Given the description of an element on the screen output the (x, y) to click on. 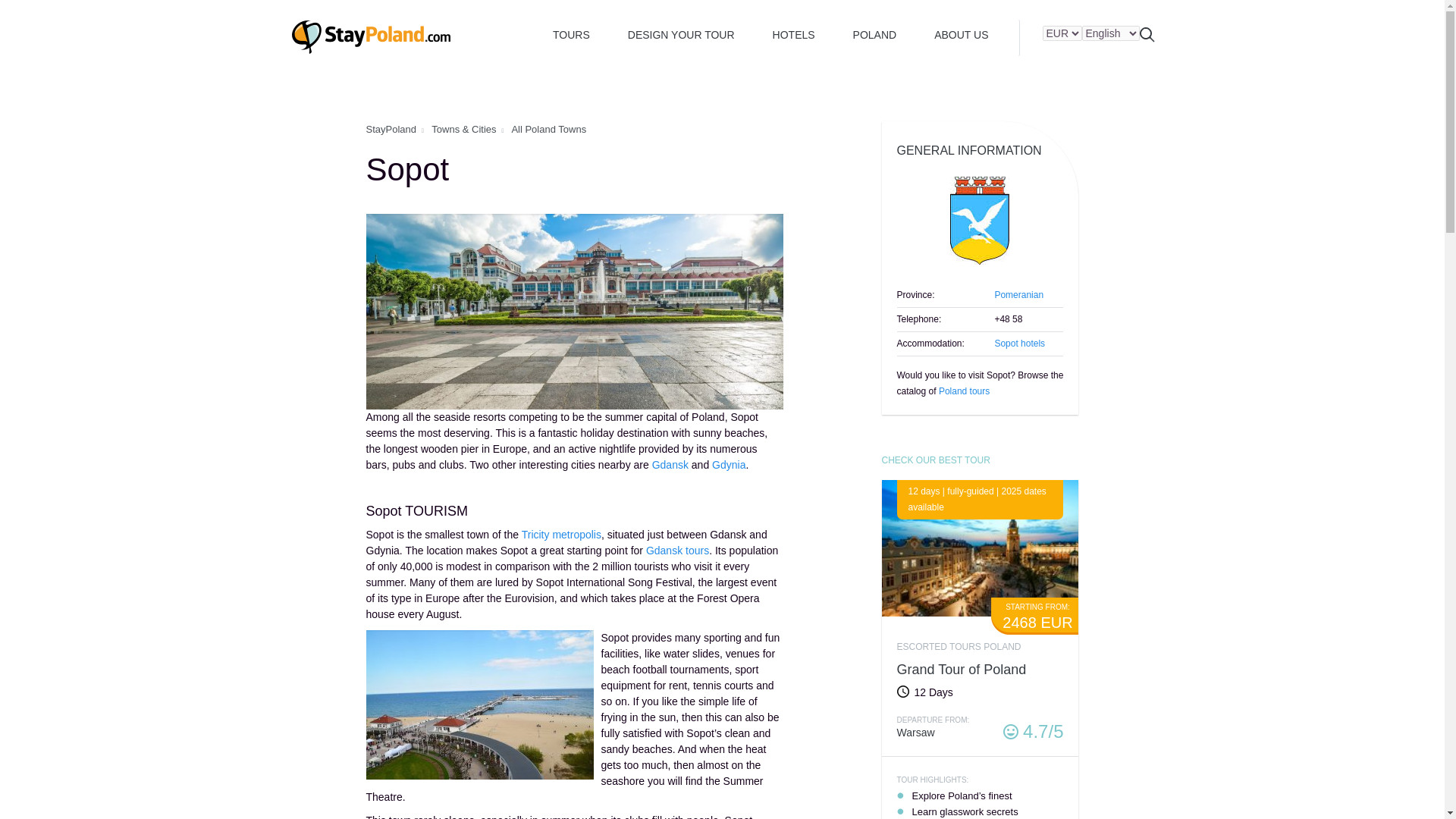
Pomeranian (1018, 294)
StayPoland (390, 129)
TOURS (571, 34)
Gdansk tours (677, 550)
POLAND (874, 34)
Warsaw (915, 732)
ABOUT US (960, 34)
Grand Tour of Poland (961, 669)
HOTELS (794, 34)
Gdansk (670, 464)
